Given the description of an element on the screen output the (x, y) to click on. 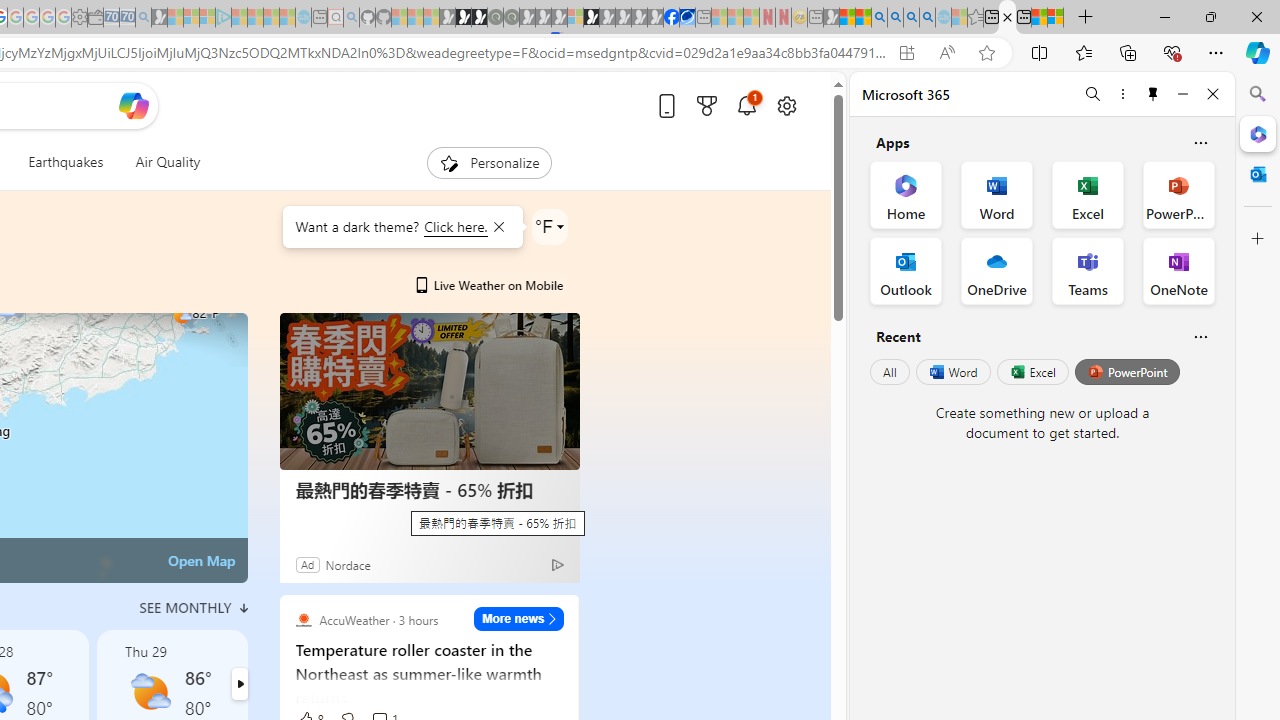
Sign in to your account - Sleeping (575, 17)
Teams Office App (1087, 270)
Favorites - Sleeping (975, 17)
All (890, 372)
